Given the description of an element on the screen output the (x, y) to click on. 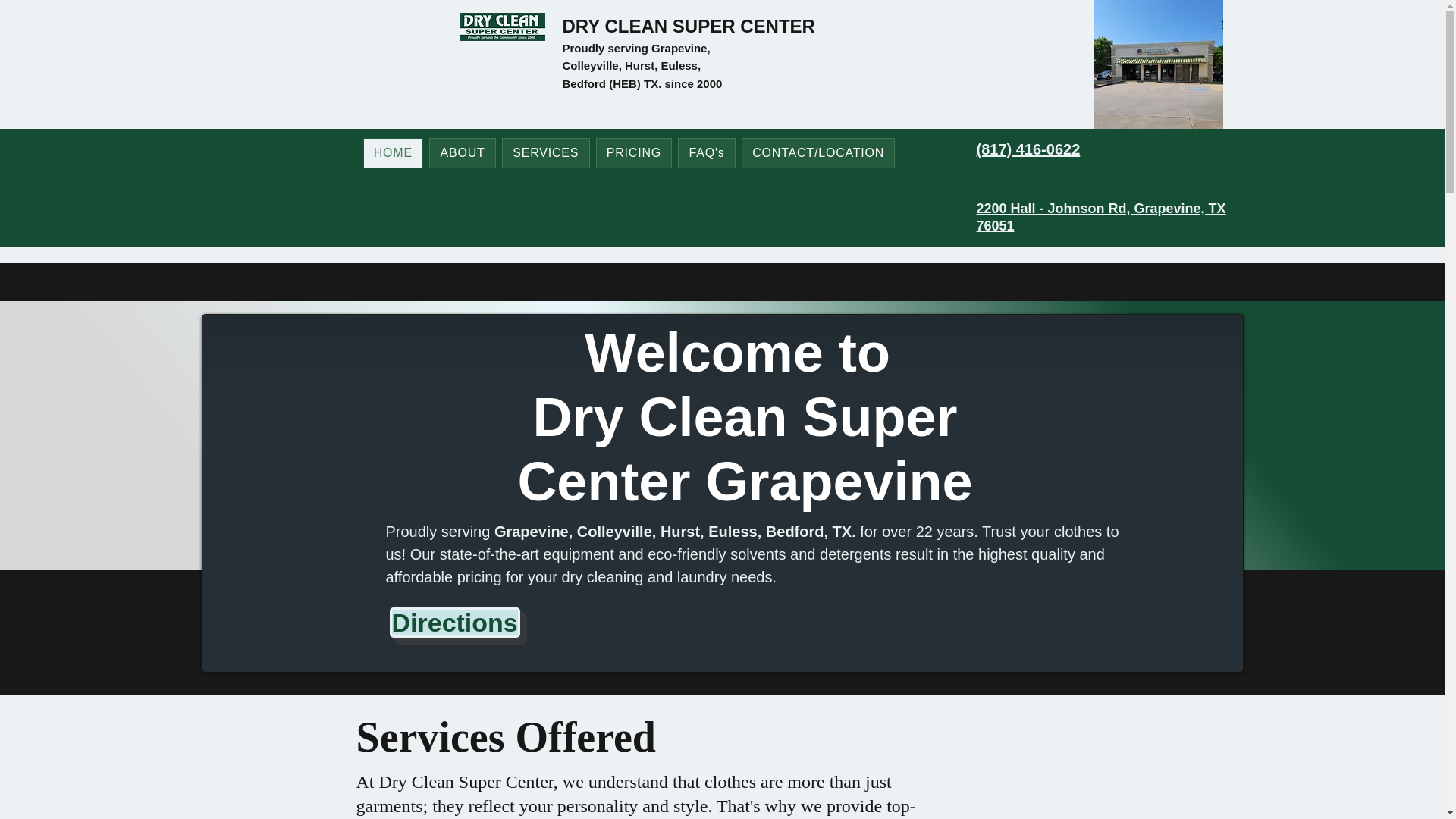
Directions (454, 622)
SERVICES (545, 153)
FAQ's (706, 153)
2200 Hall-Johnson Rd.  (502, 26)
PRICING (633, 153)
ABOUT (462, 153)
2200 Hall - Johnson Rd, Grapevine, TX 76051 (1100, 216)
HOME (392, 153)
